Given the description of an element on the screen output the (x, y) to click on. 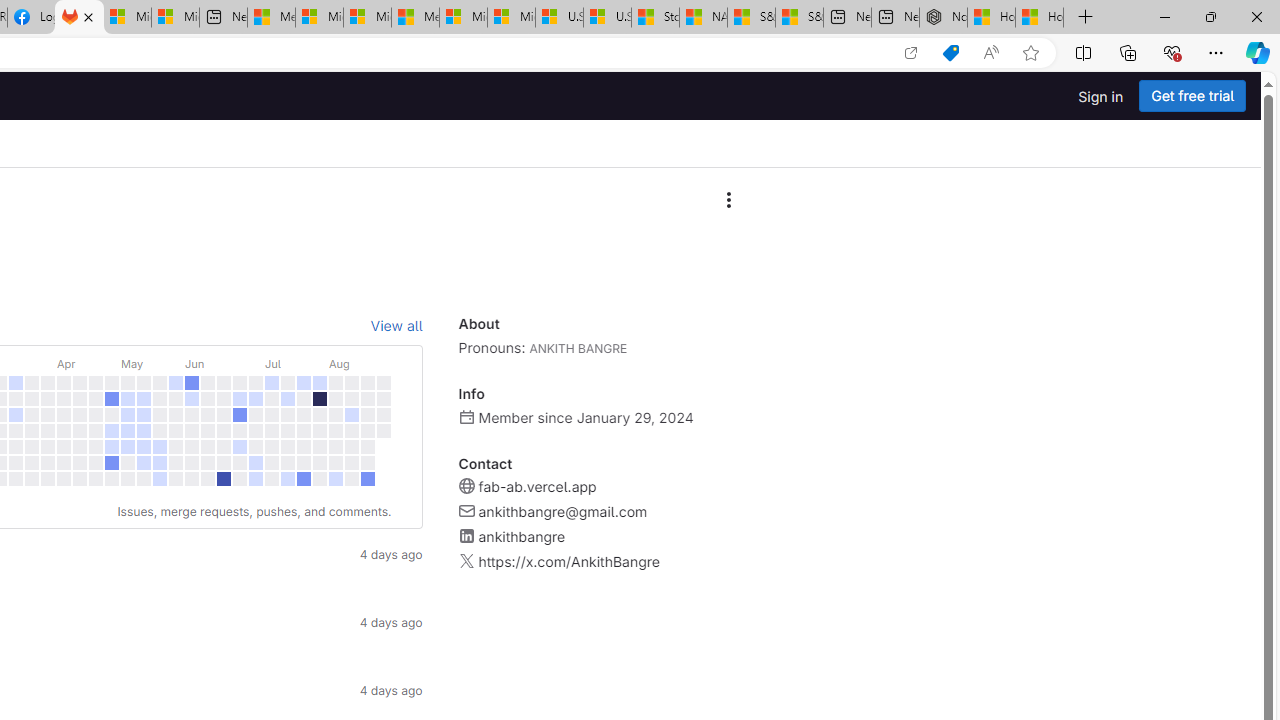
Open in app (910, 53)
Sign in (1100, 95)
